Given the description of an element on the screen output the (x, y) to click on. 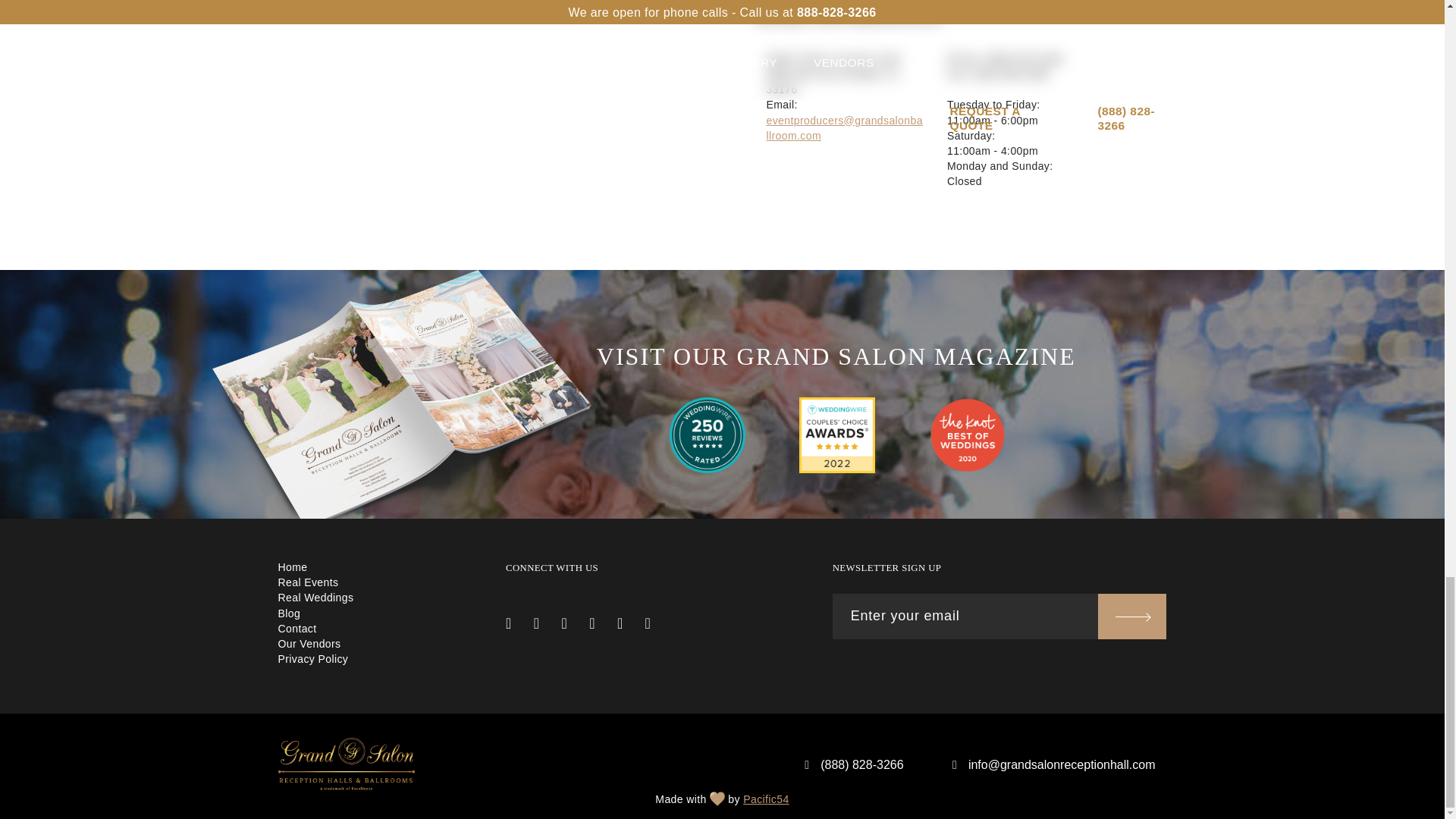
Gsrh Magazinemockup 2023 Min (401, 399)
Logo Rated (707, 435)
Home (292, 567)
Real Events (307, 582)
Logo Small (345, 763)
Privacy Policy (312, 658)
Badge Weddingawards En Us (837, 435)
Bow Digitalbadge 2020 500x500 (968, 435)
Real Weddings (315, 597)
Blog (288, 613)
Our Vendors (309, 644)
Contact (296, 628)
